Given the description of an element on the screen output the (x, y) to click on. 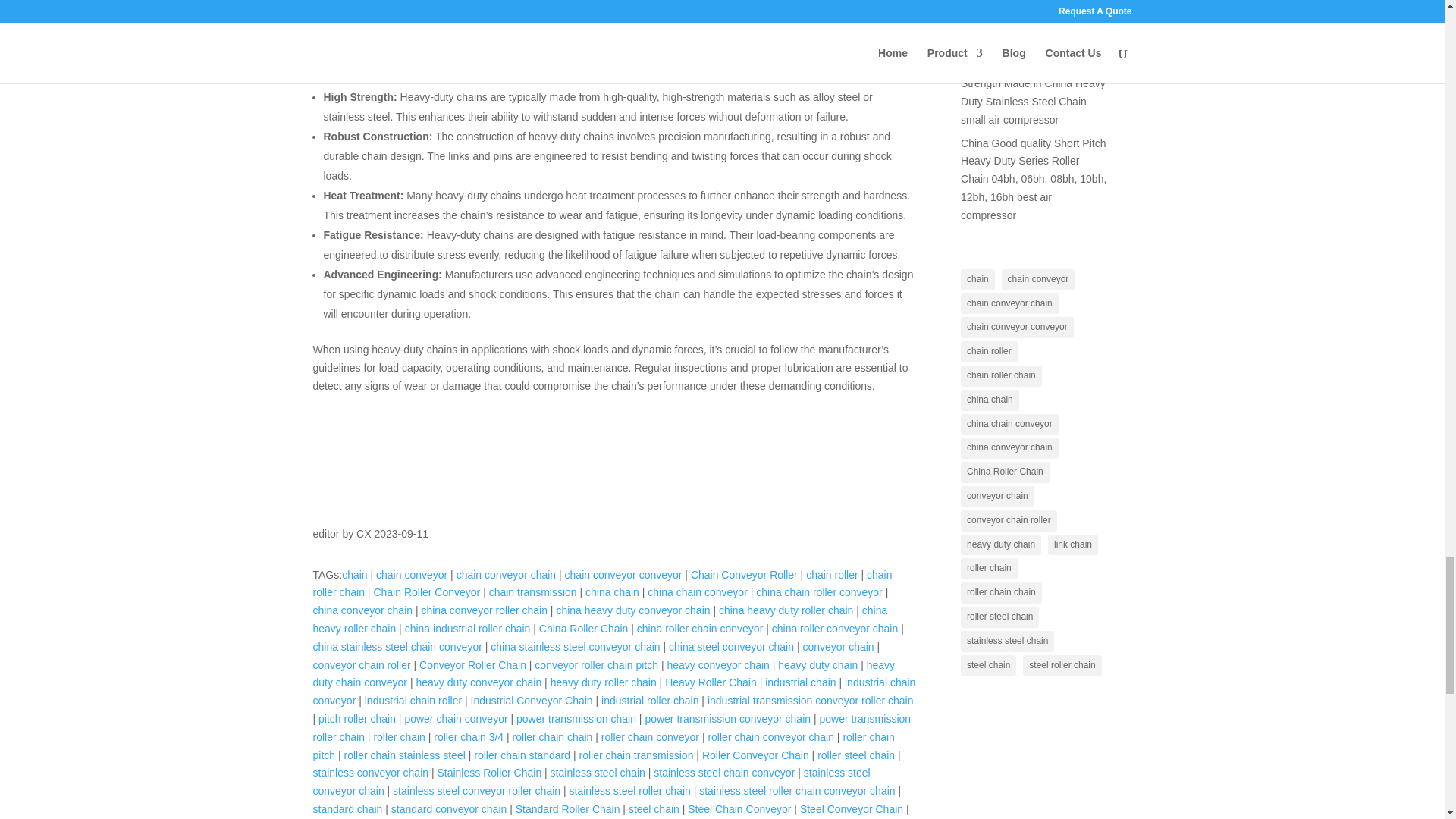
china steel conveyor chain (730, 646)
chain conveyor (410, 574)
chain (354, 574)
china chain conveyor (697, 592)
chain conveyor chain (506, 574)
china chain roller conveyor (818, 592)
china roller chain conveyor (699, 628)
china industrial roller chain (467, 628)
conveyor chain (837, 646)
Conveyor Roller Chain (472, 664)
chain conveyor conveyor (623, 574)
china stainless steel chain conveyor (397, 646)
Chain Roller Conveyor (426, 592)
conveyor chain roller (361, 664)
china stainless steel conveyor chain (574, 646)
